Given the description of an element on the screen output the (x, y) to click on. 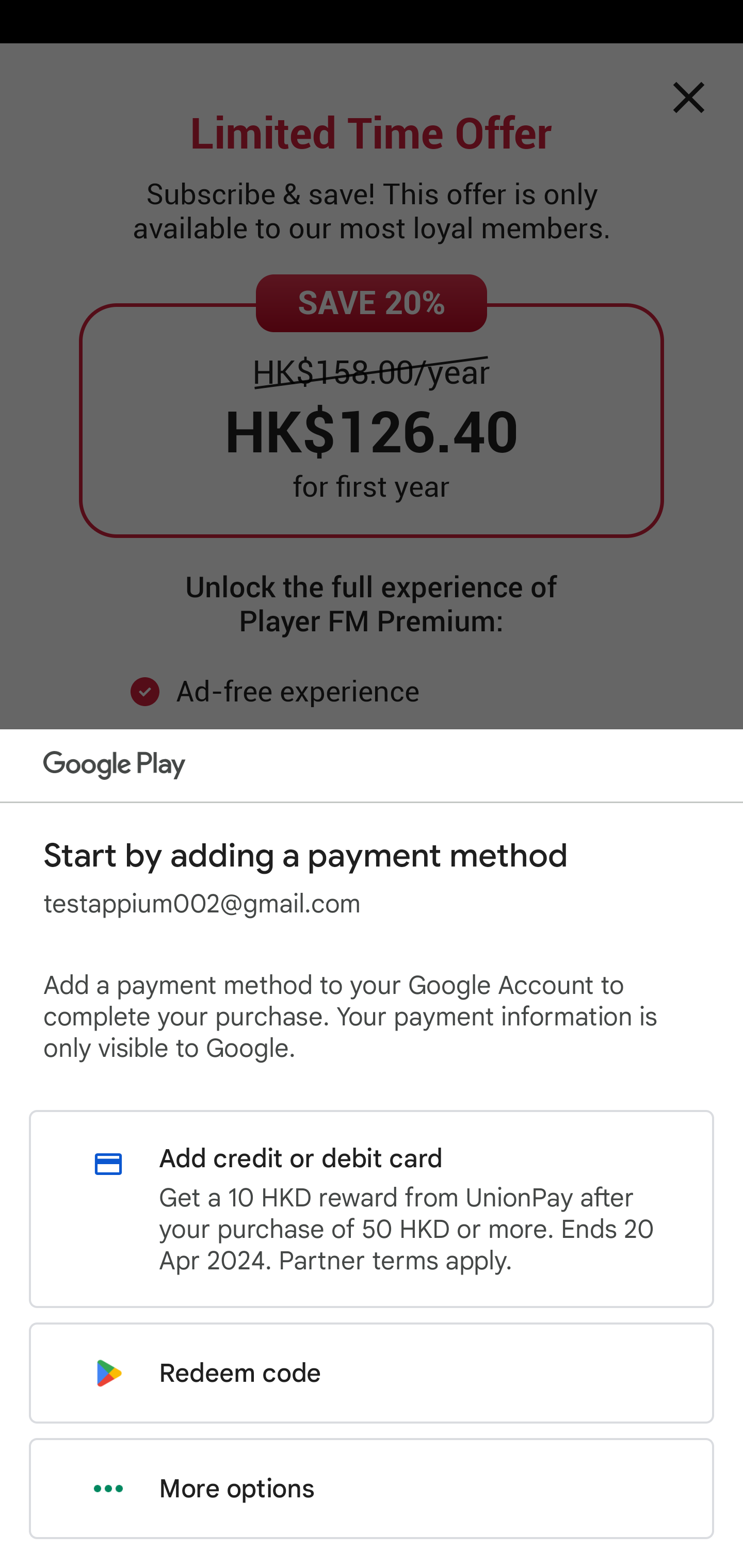
Redeem code (371, 1372)
More options (371, 1488)
